Given the description of an element on the screen output the (x, y) to click on. 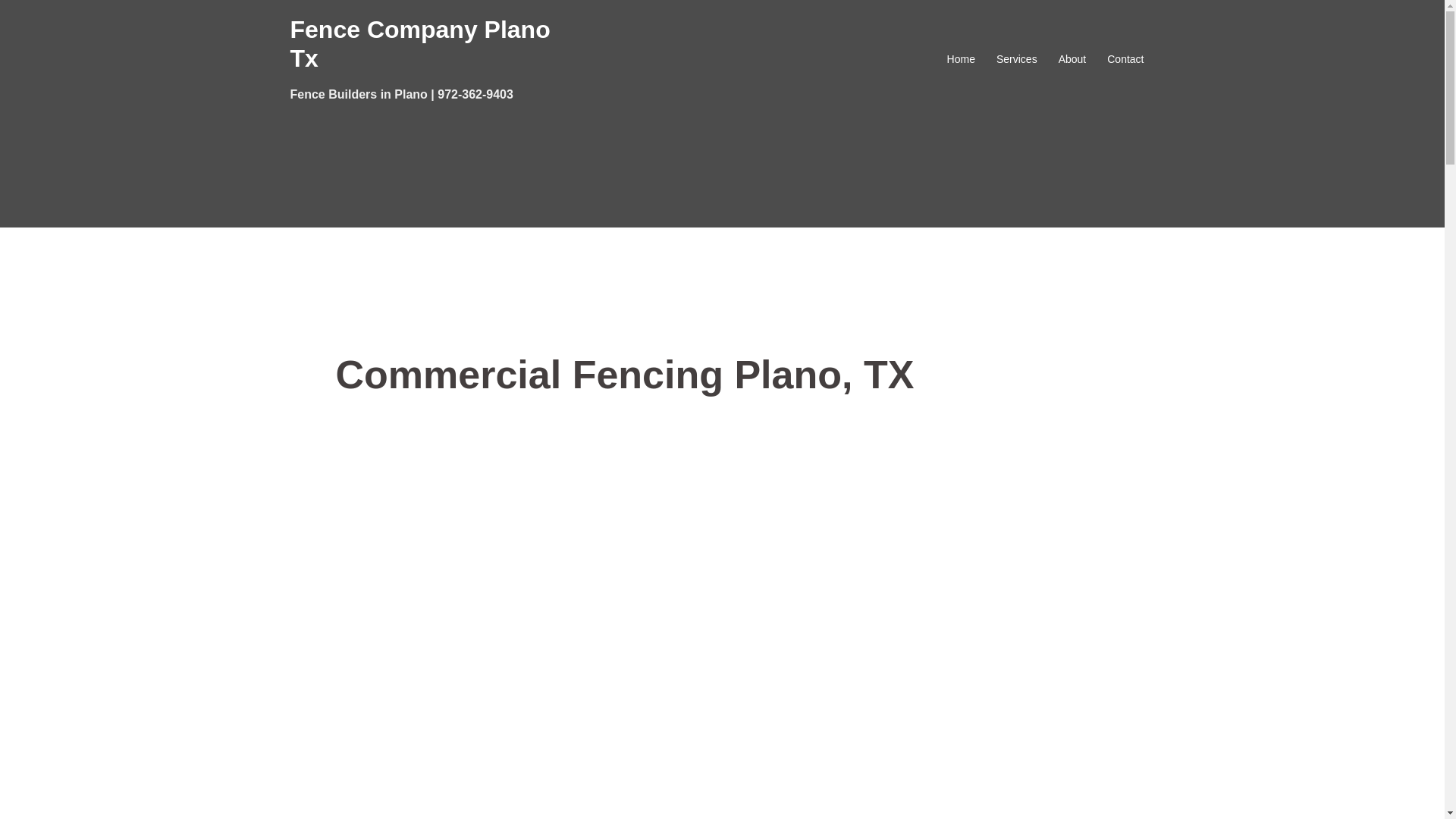
About (1072, 59)
Services (1015, 59)
Contact (1124, 59)
Home (961, 59)
Fence Company Plano Tx (419, 43)
